Given the description of an element on the screen output the (x, y) to click on. 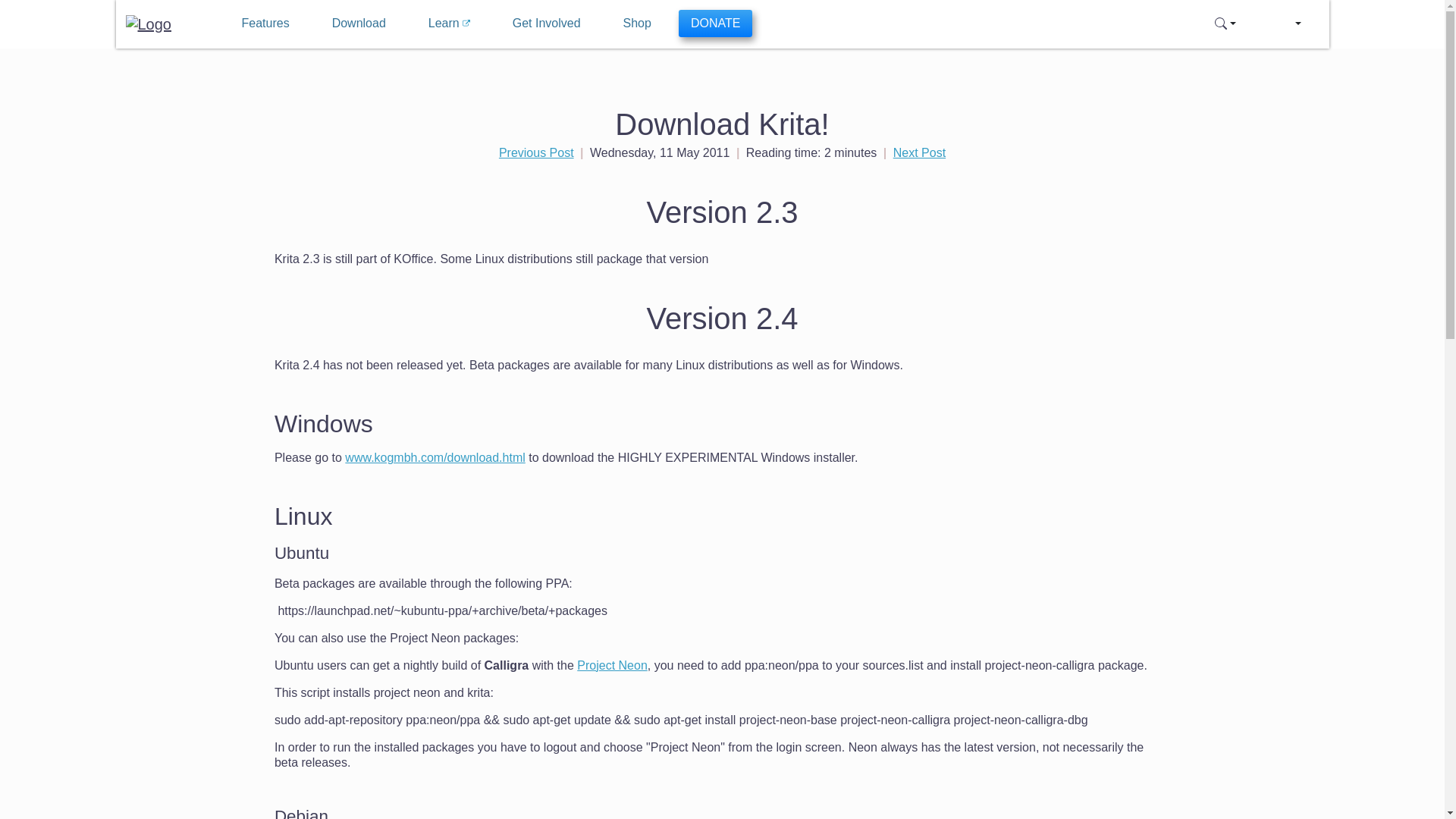
Shop (637, 23)
Next Post (918, 152)
Download (359, 23)
Project Neon (611, 665)
DONATE (715, 22)
Previous Post (536, 152)
Learn (448, 23)
Get Involved (546, 23)
Features (264, 23)
